Given the description of an element on the screen output the (x, y) to click on. 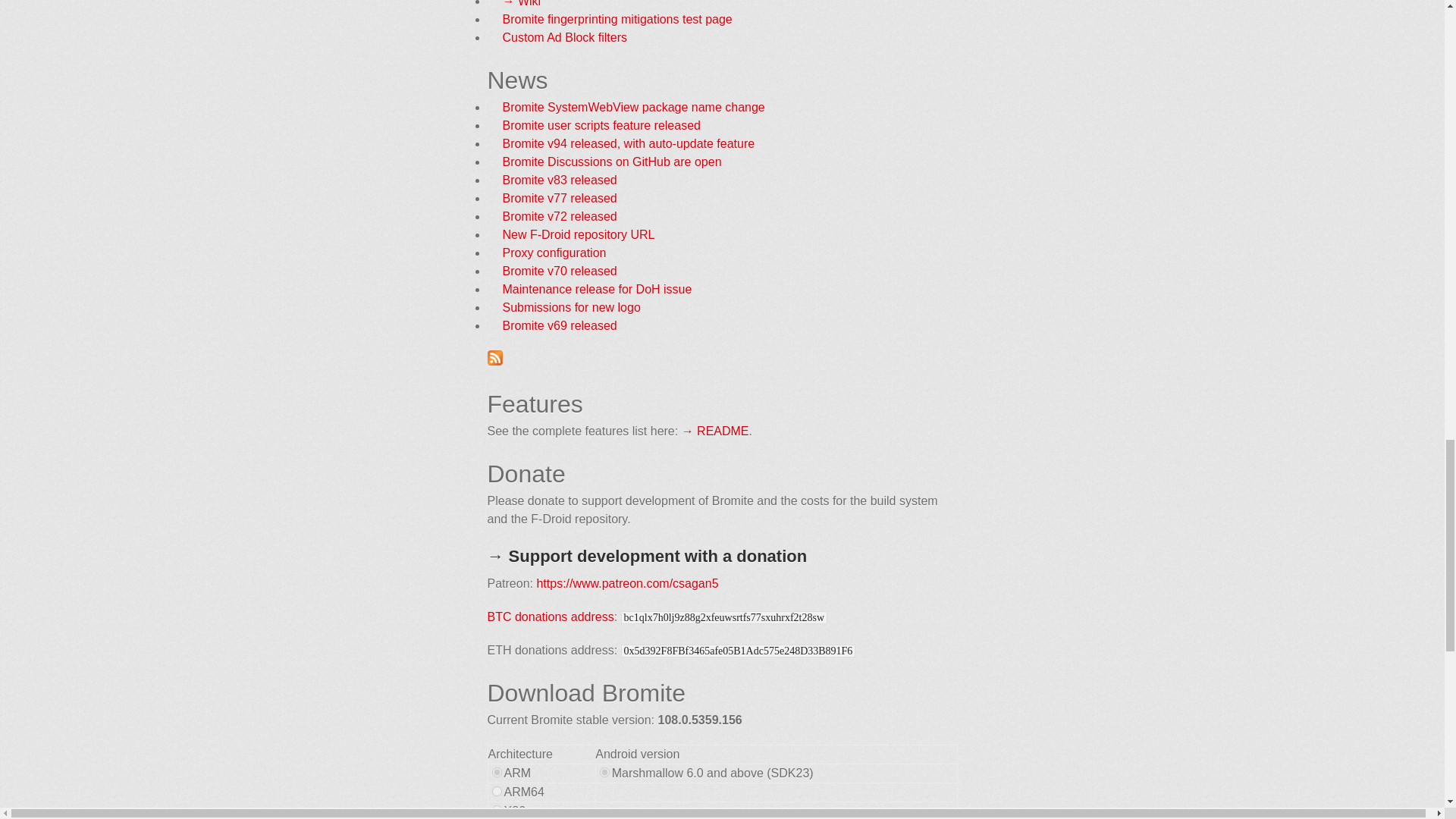
Bromite v69 released (558, 325)
Bromite user scripts feature released (601, 124)
Bromite v72 released (558, 215)
Bromite SystemWebView package name change (633, 106)
BTC donations address (549, 616)
Custom Ad Block filters (564, 37)
Bromite fingerprinting mitigations test page (617, 19)
Bromite v77 released (558, 197)
Maintenance release for DoH issue (596, 288)
arm (496, 772)
